Given the description of an element on the screen output the (x, y) to click on. 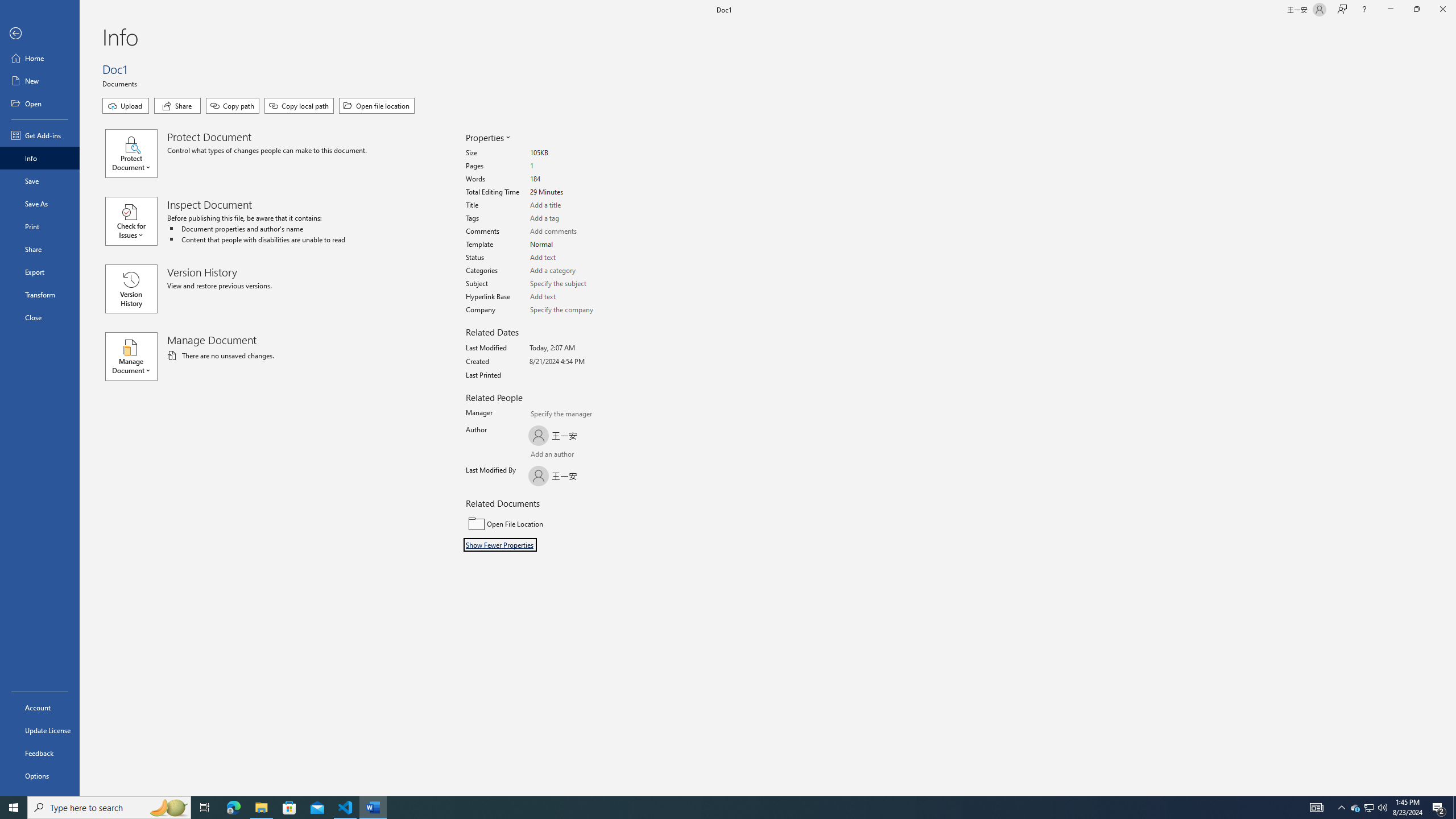
Restore Down (1416, 9)
Home (40, 57)
Get Add-ins (40, 134)
Open (40, 102)
Copy local path (298, 105)
Manage Document (135, 356)
Add an author (540, 454)
Back (40, 33)
Protect Document (135, 153)
Share (40, 248)
Info (40, 157)
Comments (572, 231)
Tags (572, 218)
